Given the description of an element on the screen output the (x, y) to click on. 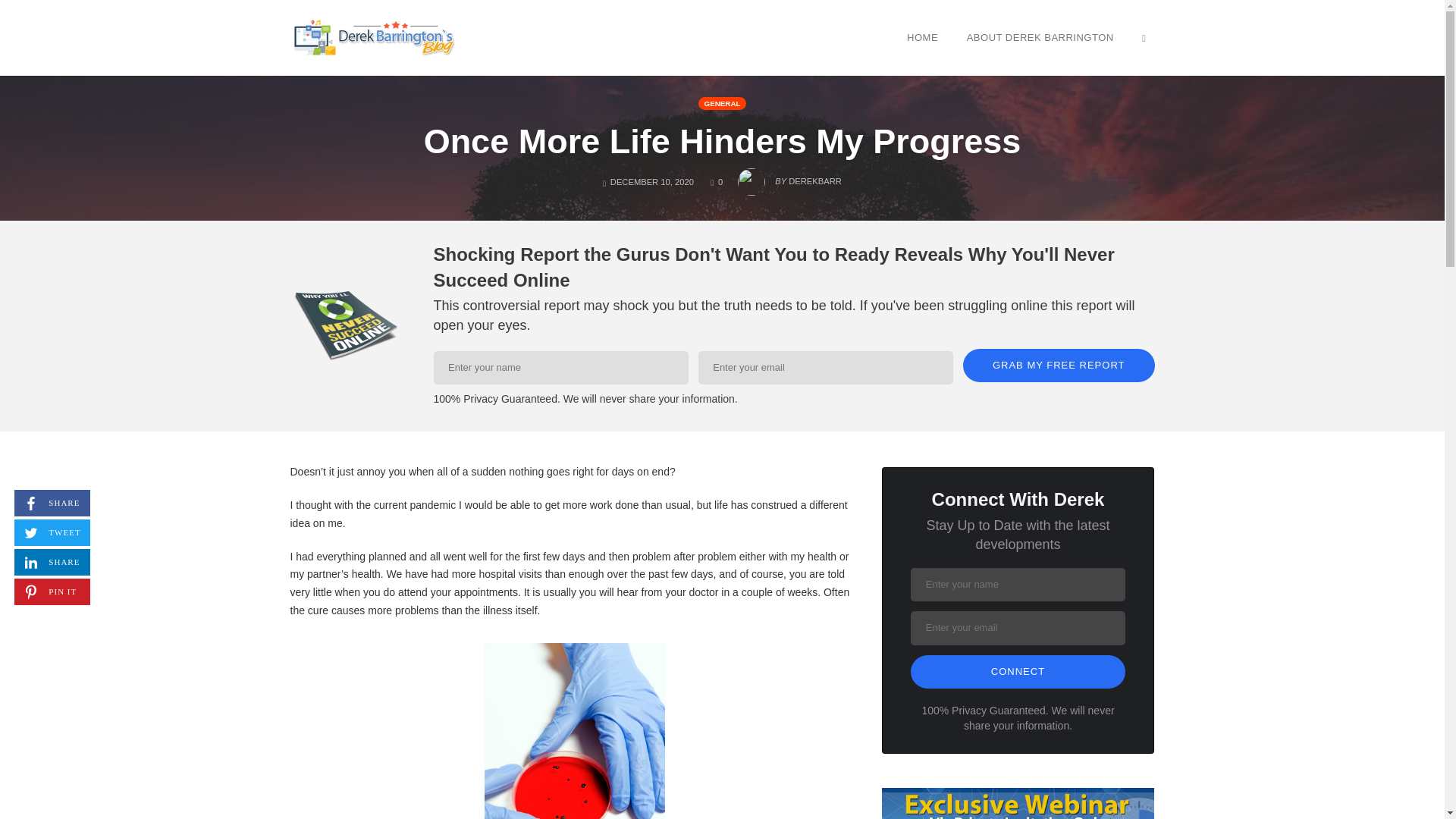
Derek Barrington (373, 37)
GENERAL (722, 103)
ABOUT DEREK BARRINGTON (52, 502)
BY DEREKBARR (1040, 37)
CONNECT (789, 176)
HOME (52, 561)
GRAB MY FREE REPORT (716, 181)
OPEN SEARCH FORM (1017, 671)
Once More Life Hinders My Progress (922, 37)
